Given the description of an element on the screen output the (x, y) to click on. 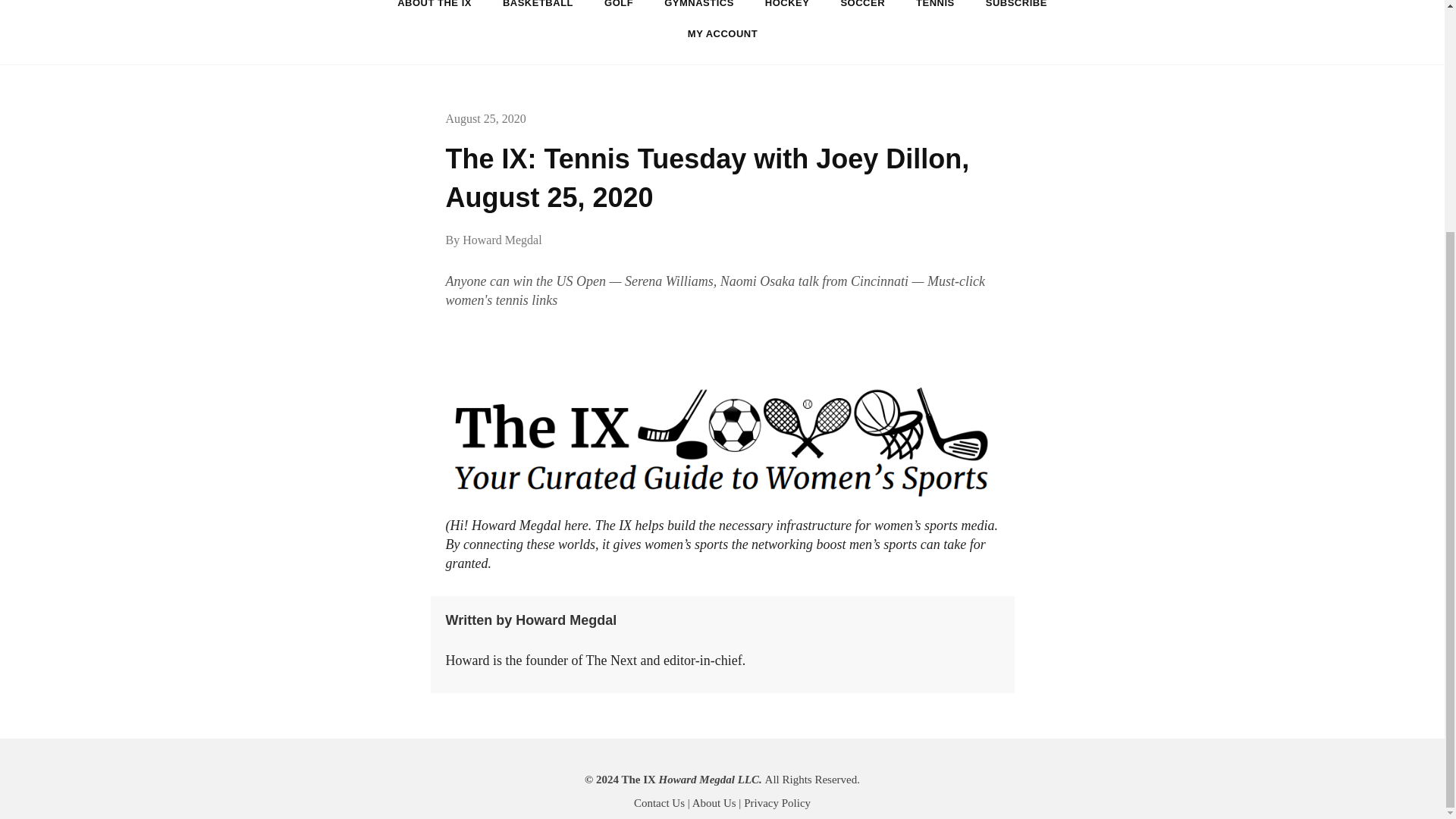
GOLF (618, 9)
SUBSCRIBE (1016, 9)
GYMNASTICS (699, 9)
HOCKEY (787, 9)
BASKETBALL (537, 9)
MY ACCOUNT (722, 33)
Howard Megdal (502, 239)
ABOUT THE IX (433, 9)
TENNIS (935, 9)
SOCCER (862, 9)
